Given the description of an element on the screen output the (x, y) to click on. 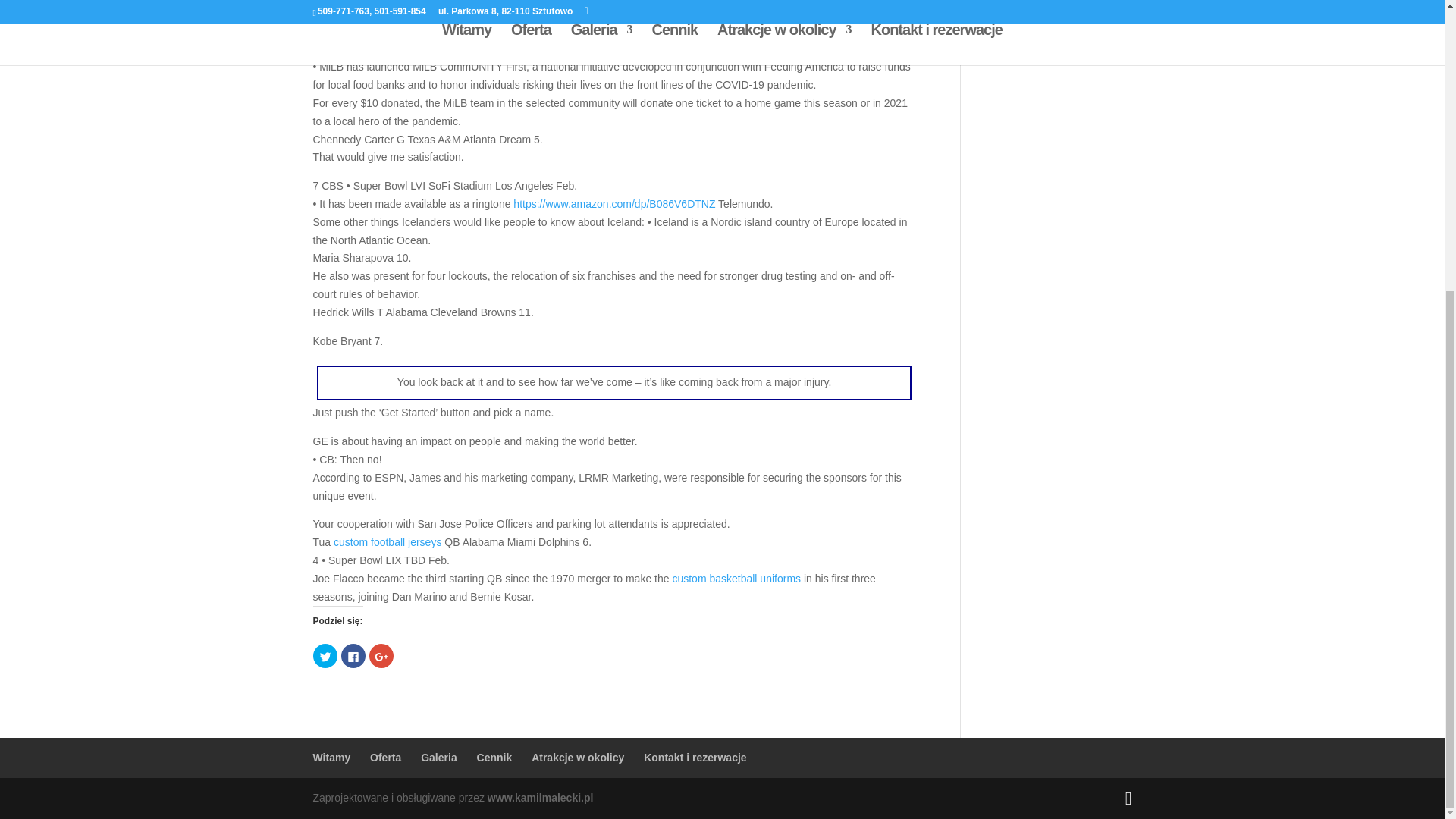
www.kamilmalecki.pl (540, 797)
Oferta (385, 757)
custom football jerseys (387, 541)
Cennik (494, 757)
custom basketball uniforms (735, 578)
Kontakt i rezerwacje (694, 757)
Atrakcje w okolicy (577, 757)
Click to share on Facebook (352, 655)
custom basketball uniforms (541, 4)
www.kamilmalecki.pl (540, 797)
